Given the description of an element on the screen output the (x, y) to click on. 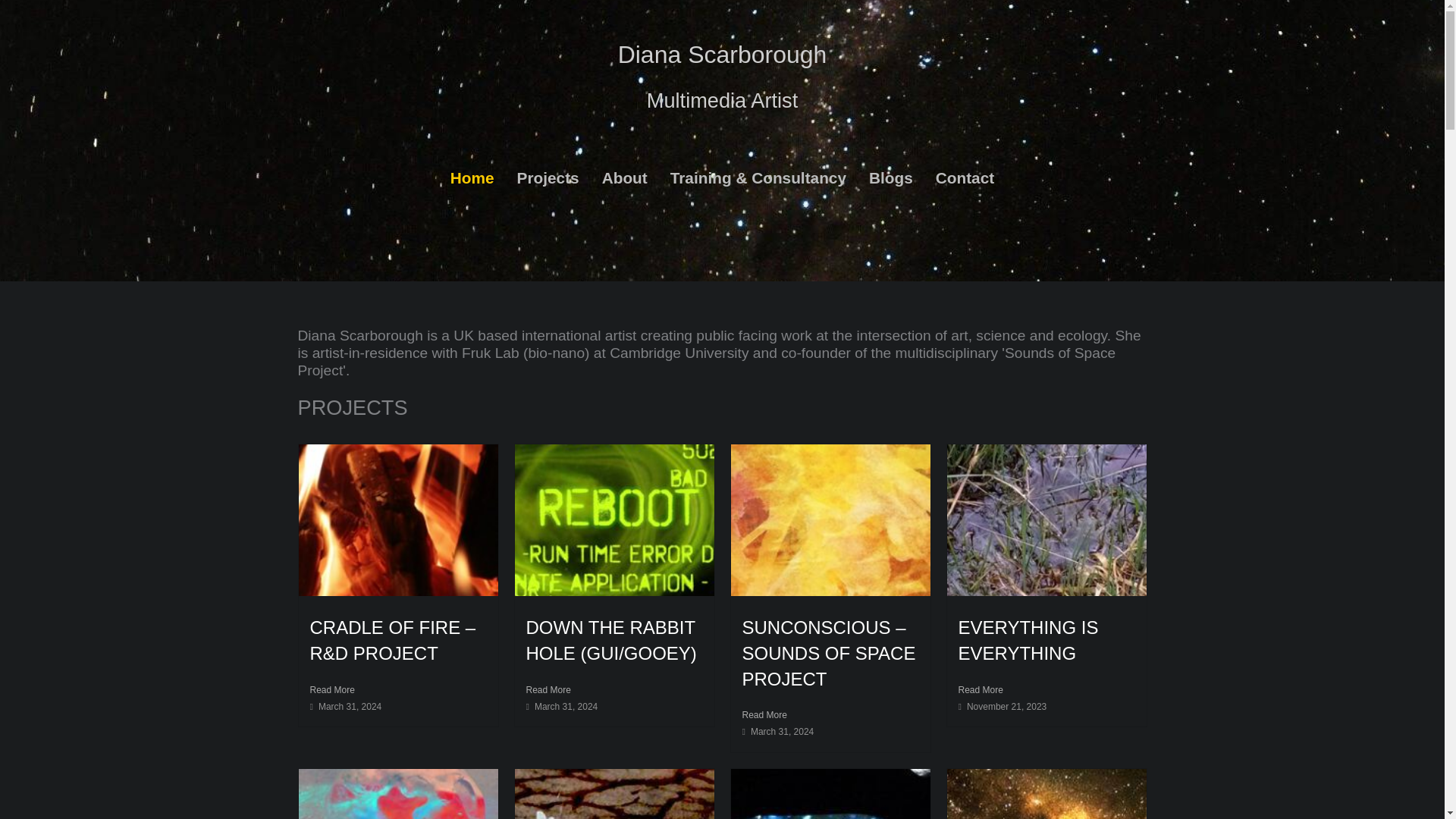
About (625, 178)
Projects (548, 178)
Read More (1046, 689)
Read More (614, 689)
Home (472, 178)
Read More (829, 714)
EVERYTHING IS EVERYTHING (1028, 640)
EVERYTHING IS EVERYTHING (1028, 640)
Blogs (890, 178)
Contact (965, 178)
Read More (397, 689)
